Given the description of an element on the screen output the (x, y) to click on. 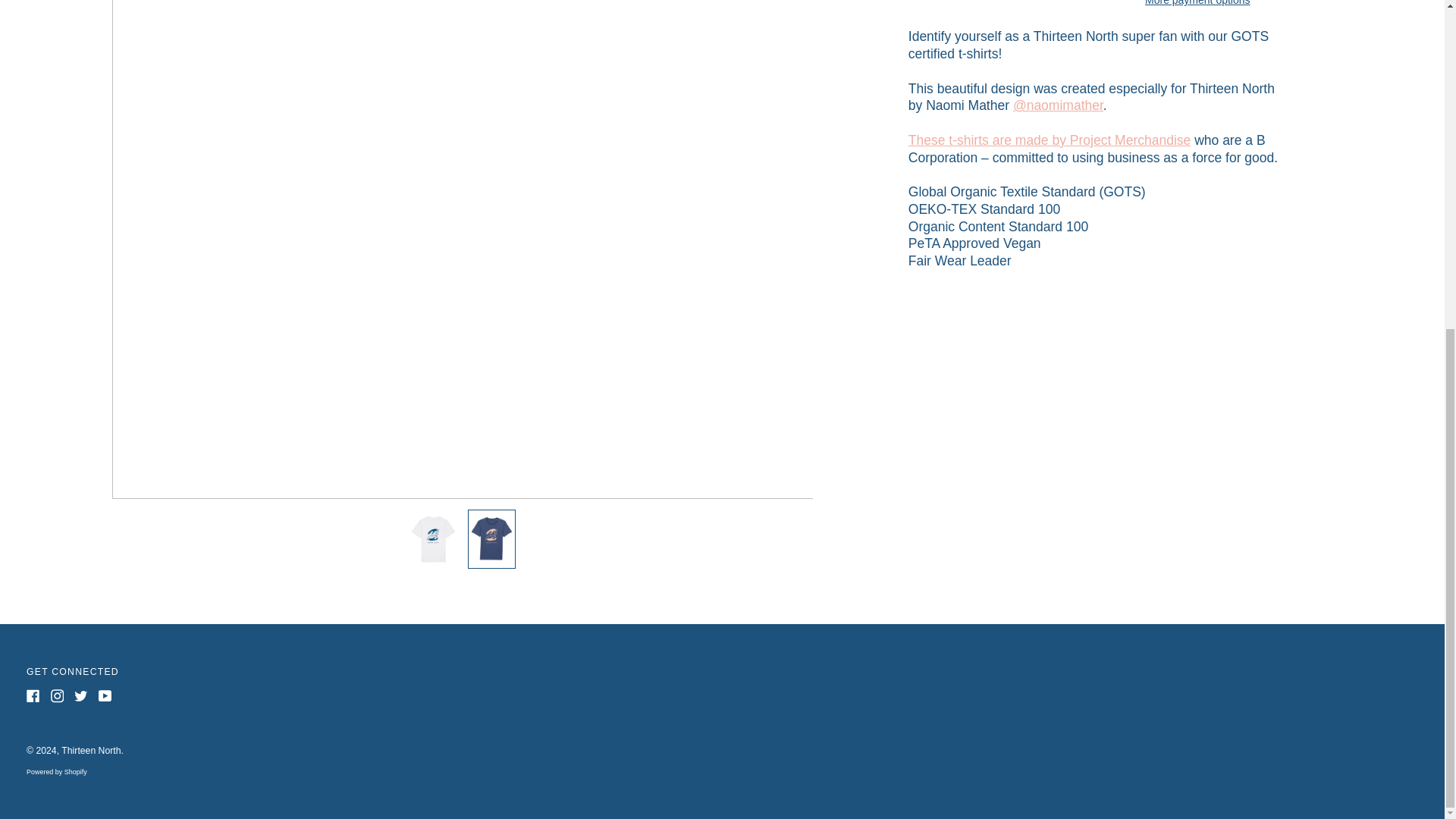
Thirteen North (90, 750)
Youtube (105, 695)
Instagram (56, 695)
Twitter (80, 695)
More payment options (1197, 3)
Powered by Shopify (56, 771)
These t-shirts are made by Project Merchandise (1049, 140)
Facebook (33, 695)
